Given the description of an element on the screen output the (x, y) to click on. 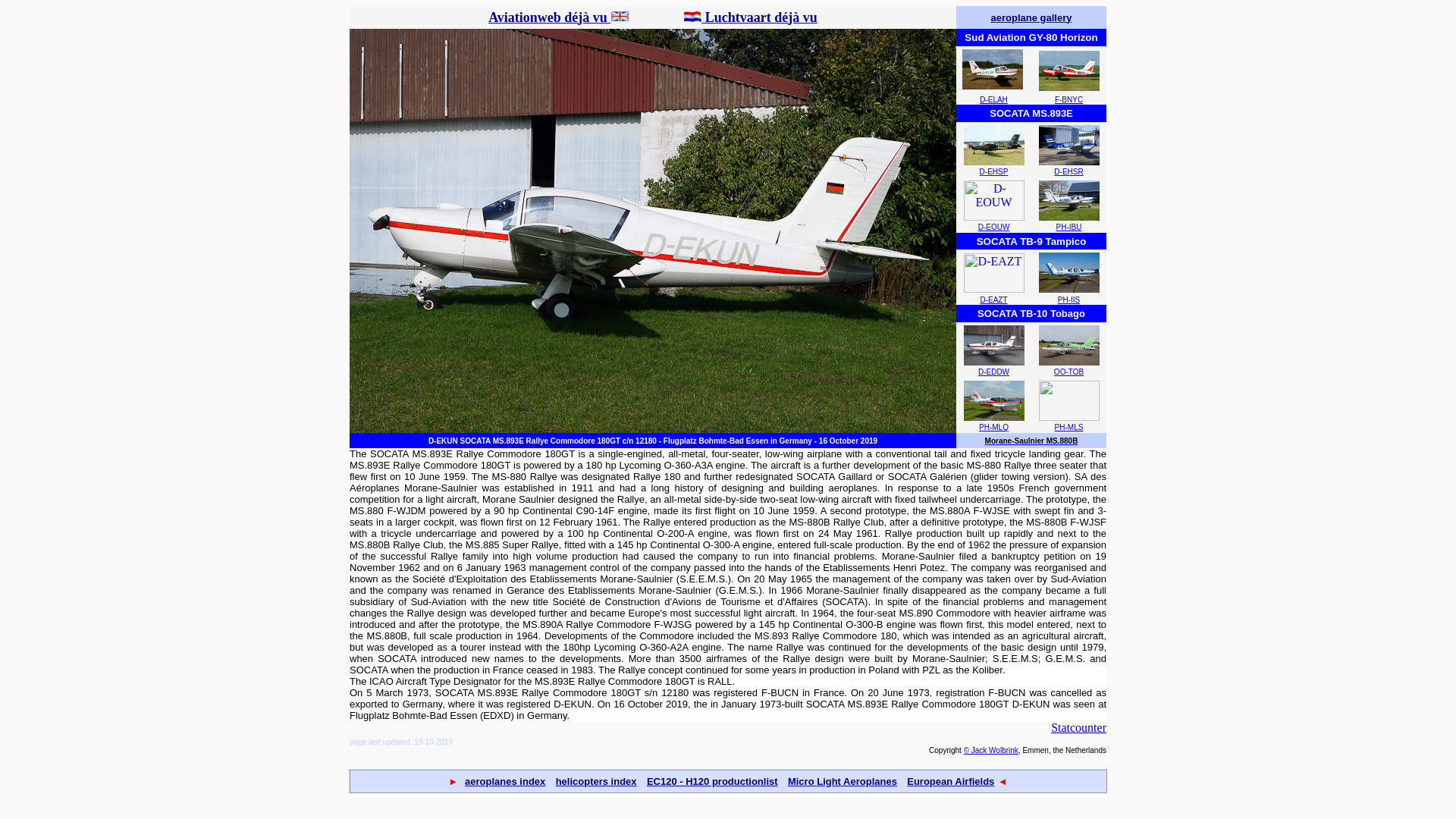
aeroplane gallery (1031, 17)
PH-MLQ (993, 427)
aeroplanes index (504, 780)
PH-IIS (1069, 299)
OO-TOB (1068, 371)
Morane-Saulnier MS.880B (1031, 438)
D-EOUW (994, 226)
helicopters index (596, 780)
EC120 - H120 productionlist (711, 780)
F-BNYC (1068, 99)
D-EHSP (994, 171)
D-EDDW (993, 371)
D-EHSR (1068, 171)
D-ELAH (993, 99)
Micro Light Aeroplanes (841, 780)
